Given the description of an element on the screen output the (x, y) to click on. 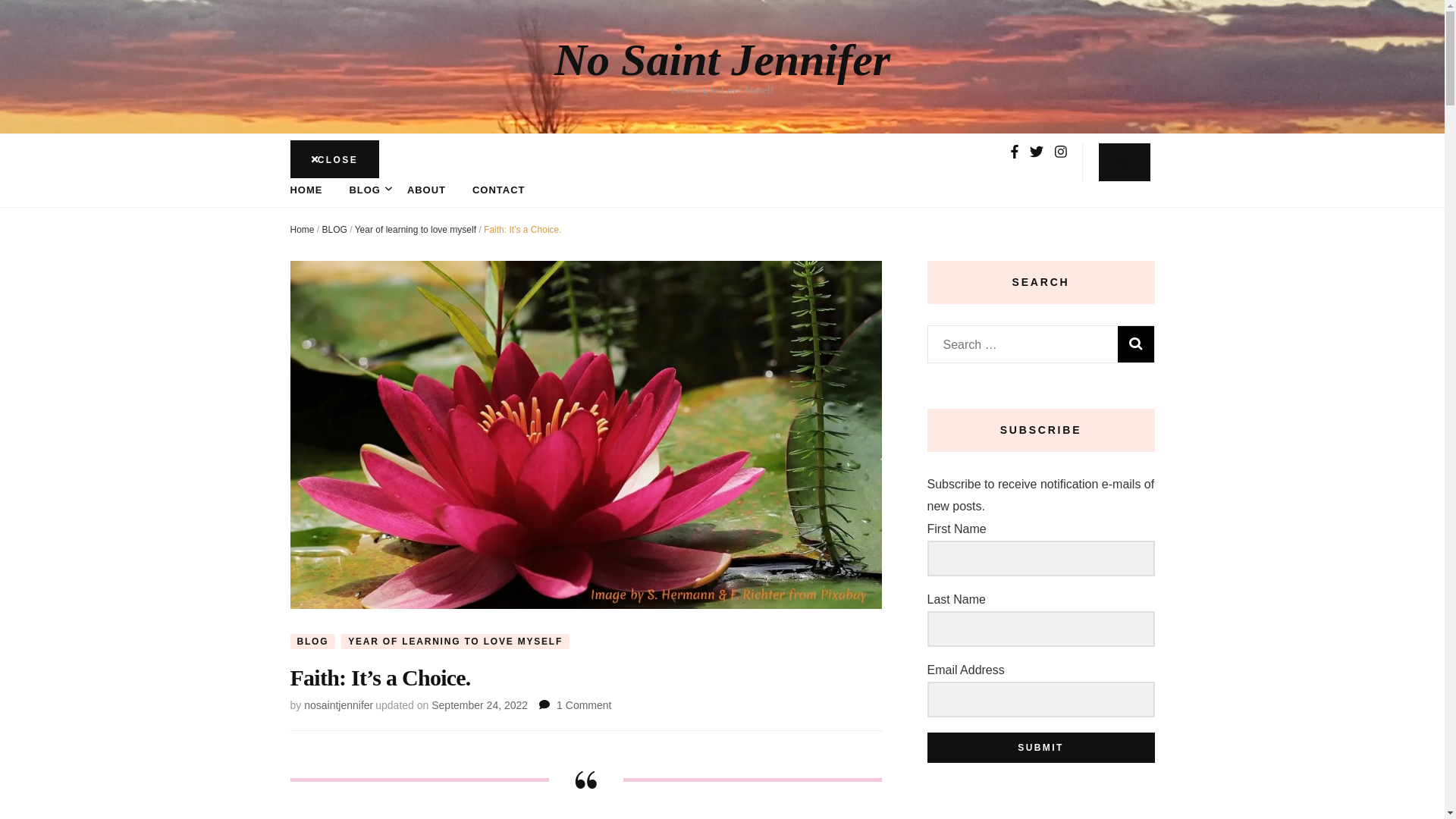
BLOG (334, 229)
Year of learning to love myself (415, 229)
1 Comment (583, 705)
Home (301, 229)
HOME (305, 190)
No Saint Jennifer (721, 60)
Search (1136, 343)
September 24, 2022 (478, 705)
nosaintjennifer (338, 705)
BLOG (311, 641)
